Given the description of an element on the screen output the (x, y) to click on. 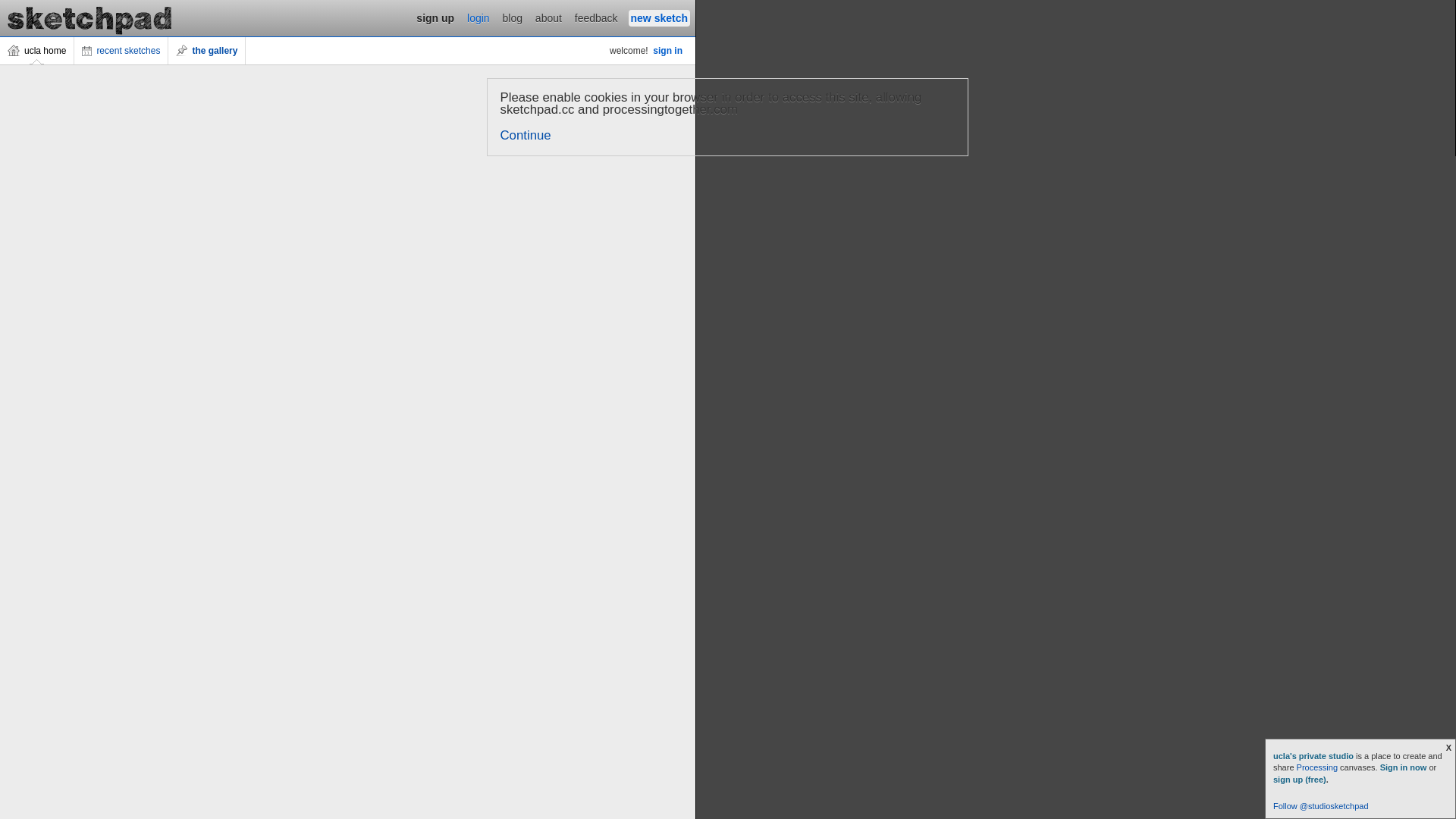
sign up Element type: text (435, 17)
Follow @studiosketchpad Element type: text (1320, 805)
ucla's private studio Element type: text (1314, 755)
Sign in now Element type: text (1403, 766)
blog Element type: text (512, 17)
feedback Element type: text (596, 17)
ucla home Element type: text (37, 50)
login Element type: text (478, 17)
Studio Sketchpad is Processing on Etherpad Element type: hover (90, 18)
sign in Element type: text (667, 50)
new sketch Element type: text (659, 17)
sign up (free) Element type: text (1299, 779)
recent sketches Element type: text (121, 50)
Processing Element type: text (1316, 766)
about Element type: text (548, 17)
Continue Element type: text (525, 135)
the gallery Element type: text (206, 50)
